Given the description of an element on the screen output the (x, y) to click on. 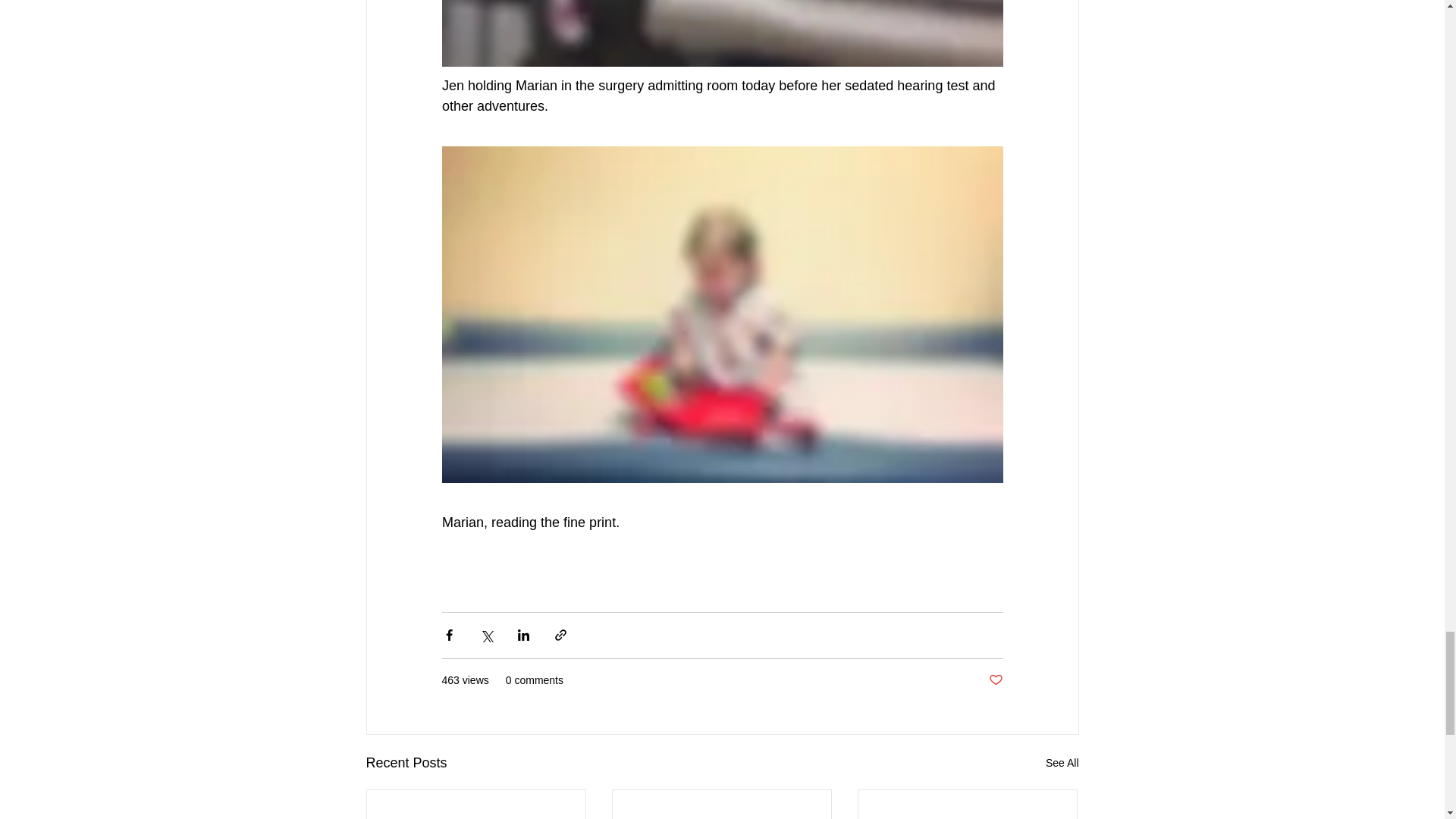
See All (1061, 762)
Post not marked as liked (995, 680)
